Given the description of an element on the screen output the (x, y) to click on. 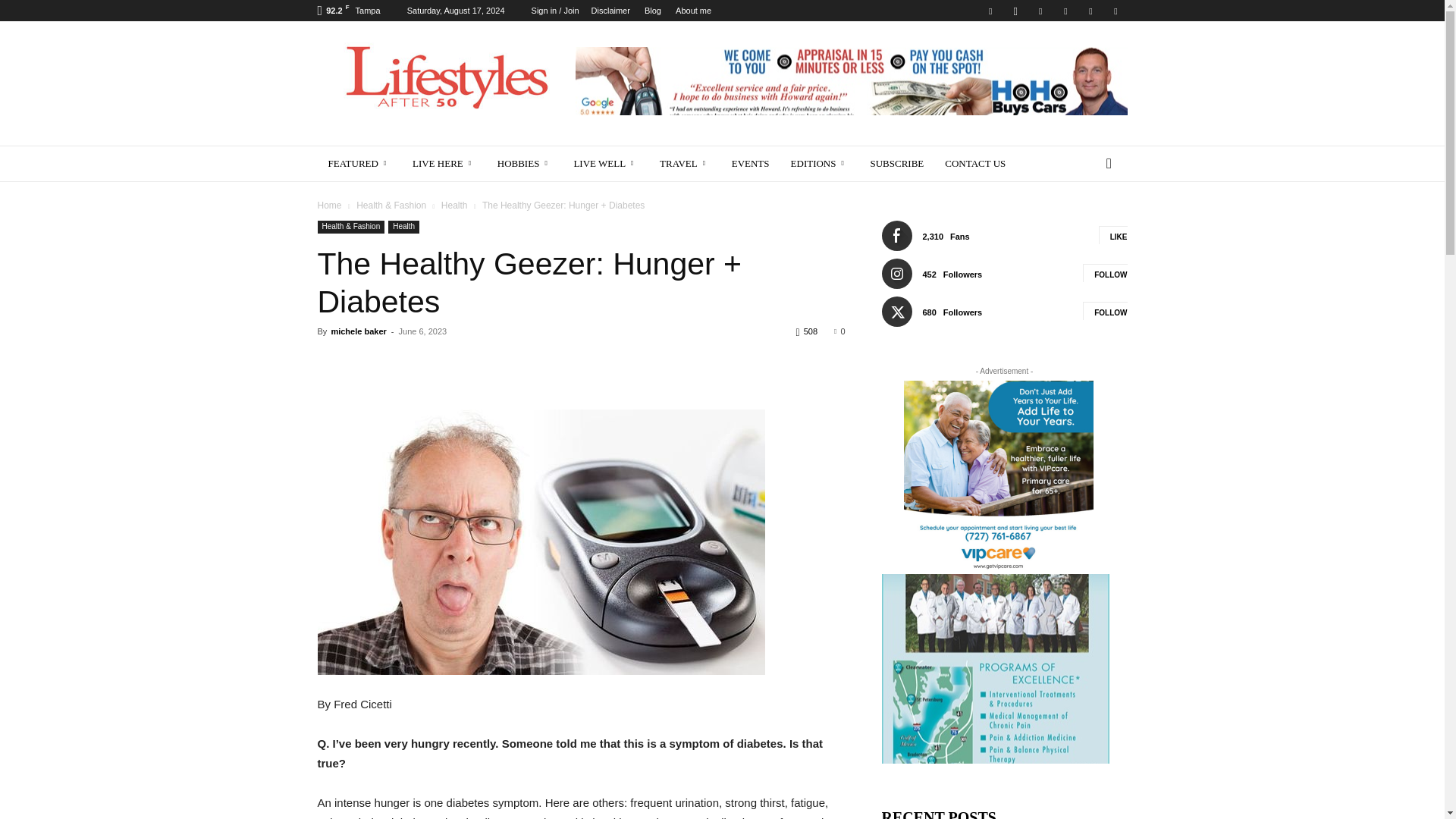
Instagram (1015, 10)
Facebook (989, 10)
Lifestyles After 50 (445, 76)
Tumblr (1090, 10)
Mail (1040, 10)
Pinterest (1065, 10)
Twitter (1114, 10)
